Given the description of an element on the screen output the (x, y) to click on. 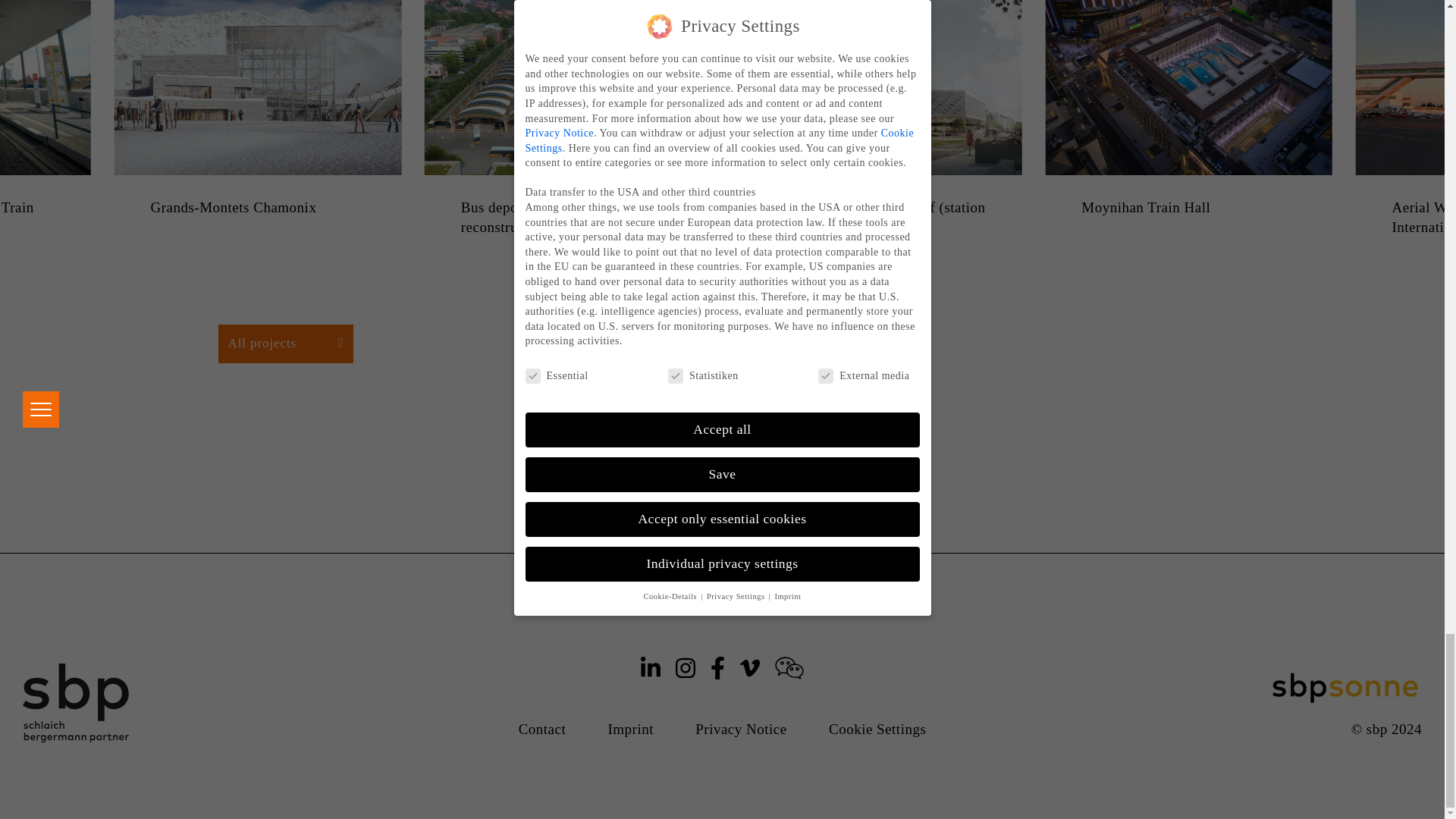
Grands-Montets Chamonix (257, 208)
Moynihan Train Hall (1188, 208)
Tram Stop at Berlin Main Train Station (45, 218)
